Given the description of an element on the screen output the (x, y) to click on. 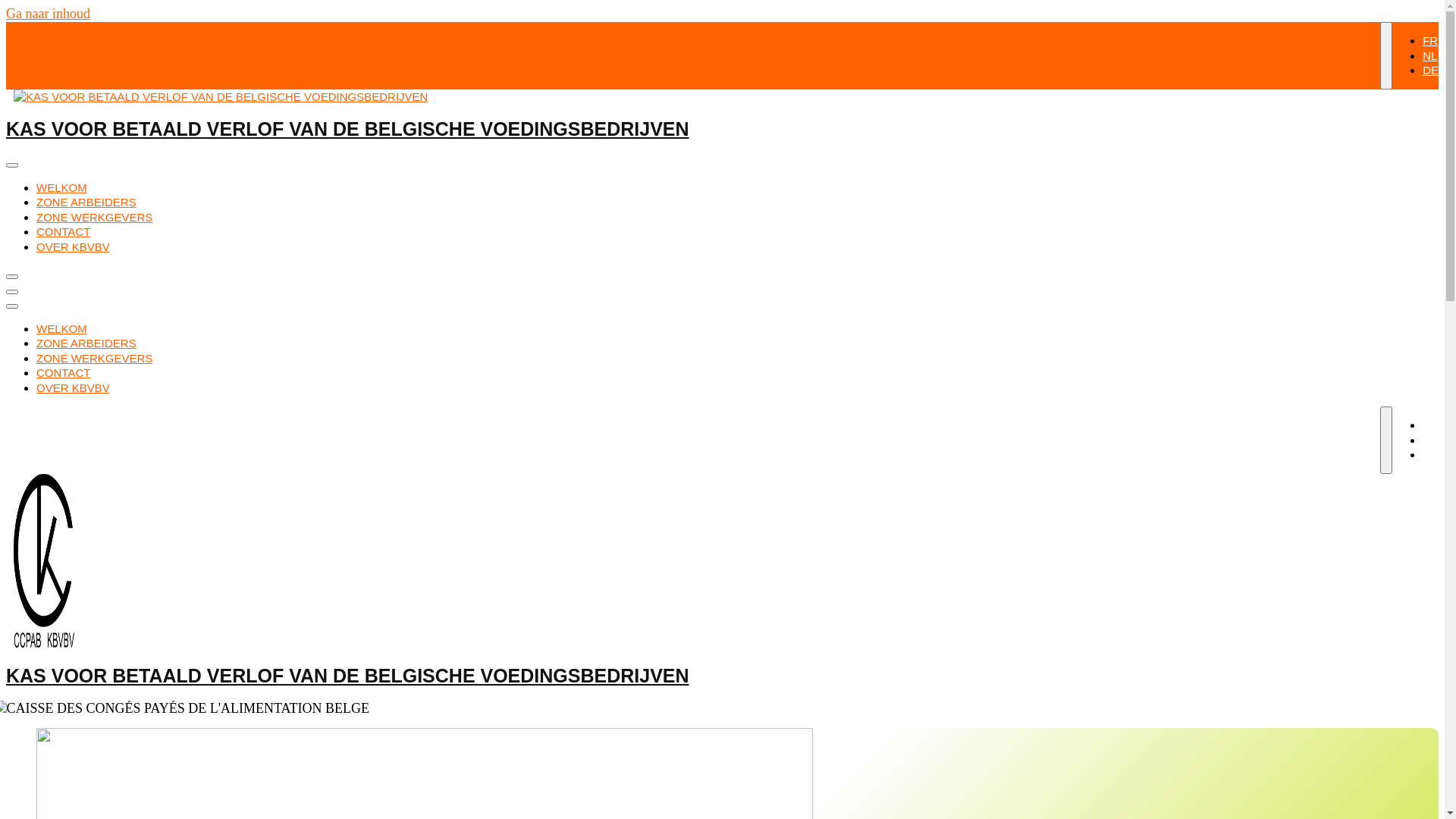
ZONE ARBEIDERS Element type: text (86, 201)
FR Element type: text (1429, 40)
CONTACT Element type: text (63, 231)
WELKOM Element type: text (61, 327)
FR Element type: text (1429, 424)
KAS VOOR BETAALD VERLOF VAN DE BELGISCHE VOEDINGSBEDRIJVEN Element type: text (347, 128)
NL Element type: text (1429, 439)
NL Element type: text (1429, 54)
OVER KBVBV Element type: text (72, 245)
KAS VOOR BETAALD VERLOF VAN DE BELGISCHE VOEDINGSBEDRIJVEN Element type: text (347, 675)
ZONE WERKGEVERS Element type: text (94, 216)
WELKOM Element type: text (61, 186)
ZONE ARBEIDERS Element type: text (86, 342)
Ga naar inhoud Element type: text (48, 13)
DE Element type: text (1430, 454)
ZONE WERKGEVERS Element type: text (94, 357)
DE Element type: text (1430, 69)
CONTACT Element type: text (63, 372)
OVER KBVBV Element type: text (72, 386)
